Given the description of an element on the screen output the (x, y) to click on. 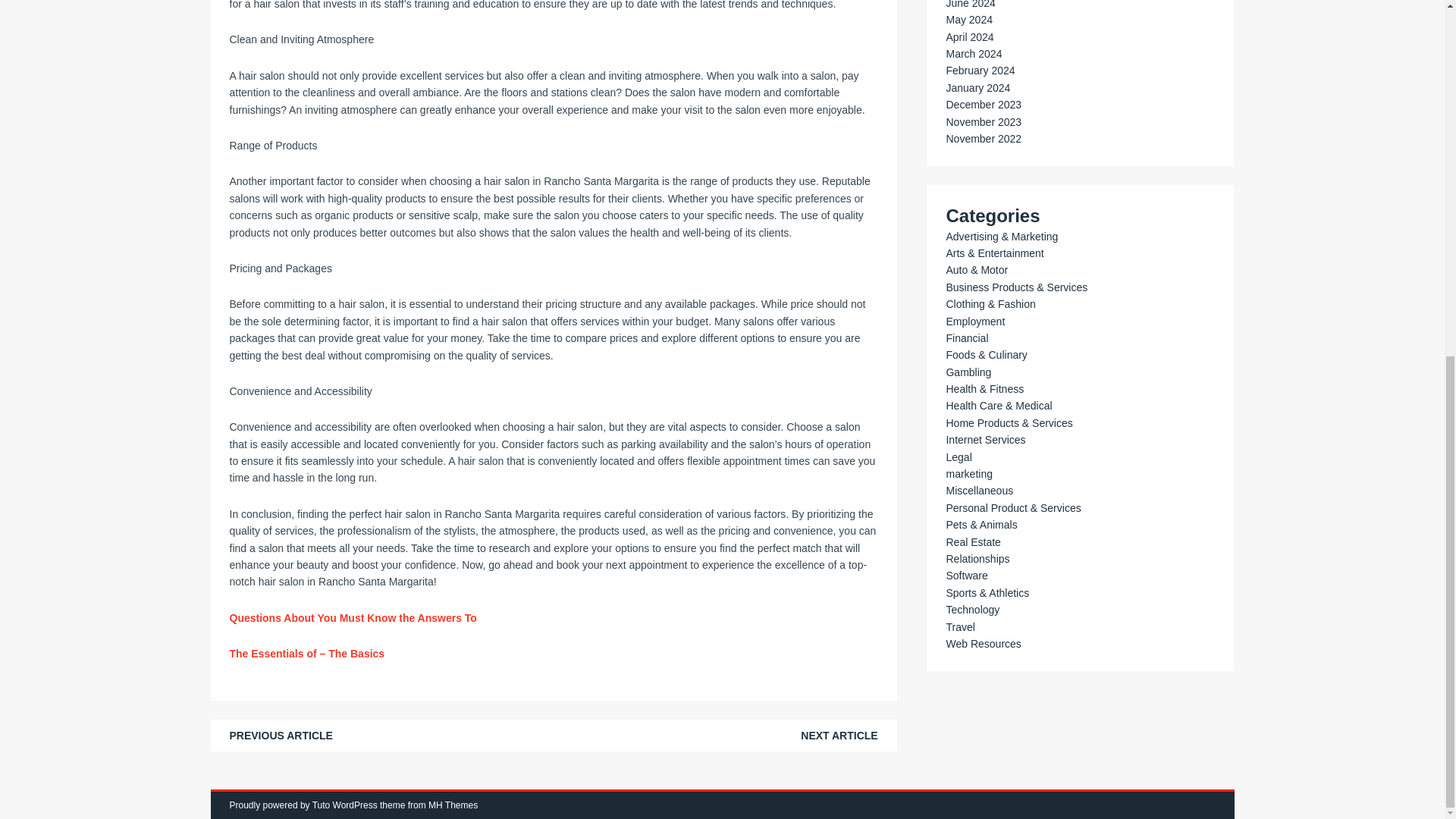
PREVIOUS ARTICLE (279, 735)
November 2022 (983, 138)
NEXT ARTICLE (838, 735)
January 2024 (977, 87)
Employment (974, 321)
December 2023 (983, 104)
March 2024 (972, 53)
May 2024 (967, 19)
June 2024 (969, 4)
November 2023 (983, 121)
Questions About You Must Know the Answers To (352, 617)
Financial (966, 337)
April 2024 (968, 37)
February 2024 (979, 70)
